Given the description of an element on the screen output the (x, y) to click on. 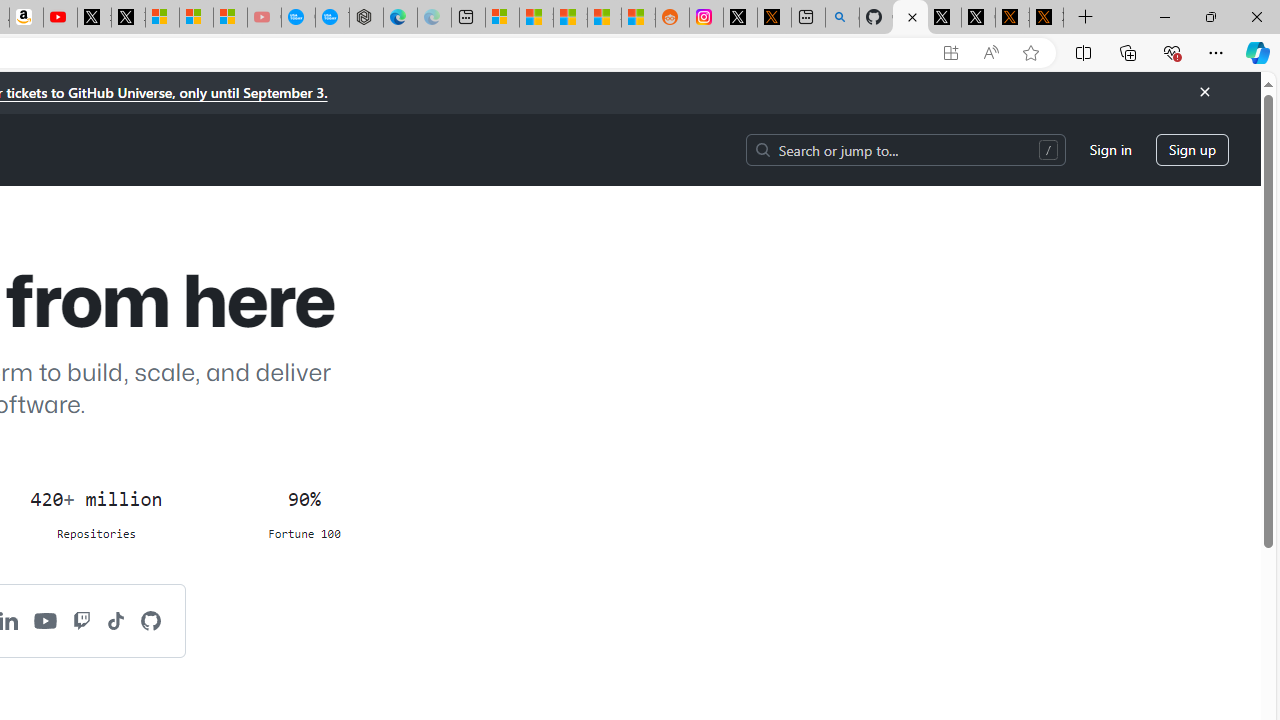
GitHub on YouTube (45, 620)
GitHub on TikTok (116, 620)
Sign up (1191, 149)
Profile / X (944, 17)
